Given the description of an element on the screen output the (x, y) to click on. 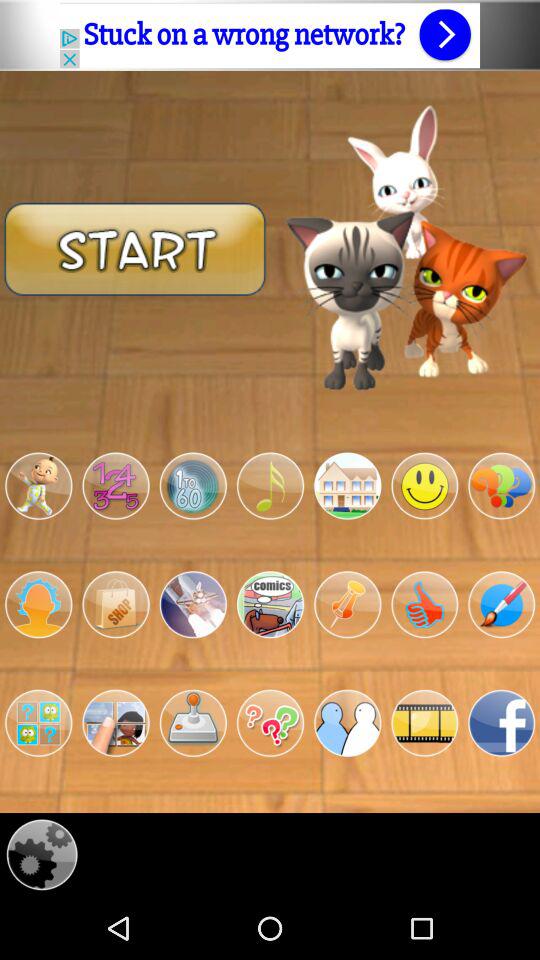
open app (115, 723)
